Given the description of an element on the screen output the (x, y) to click on. 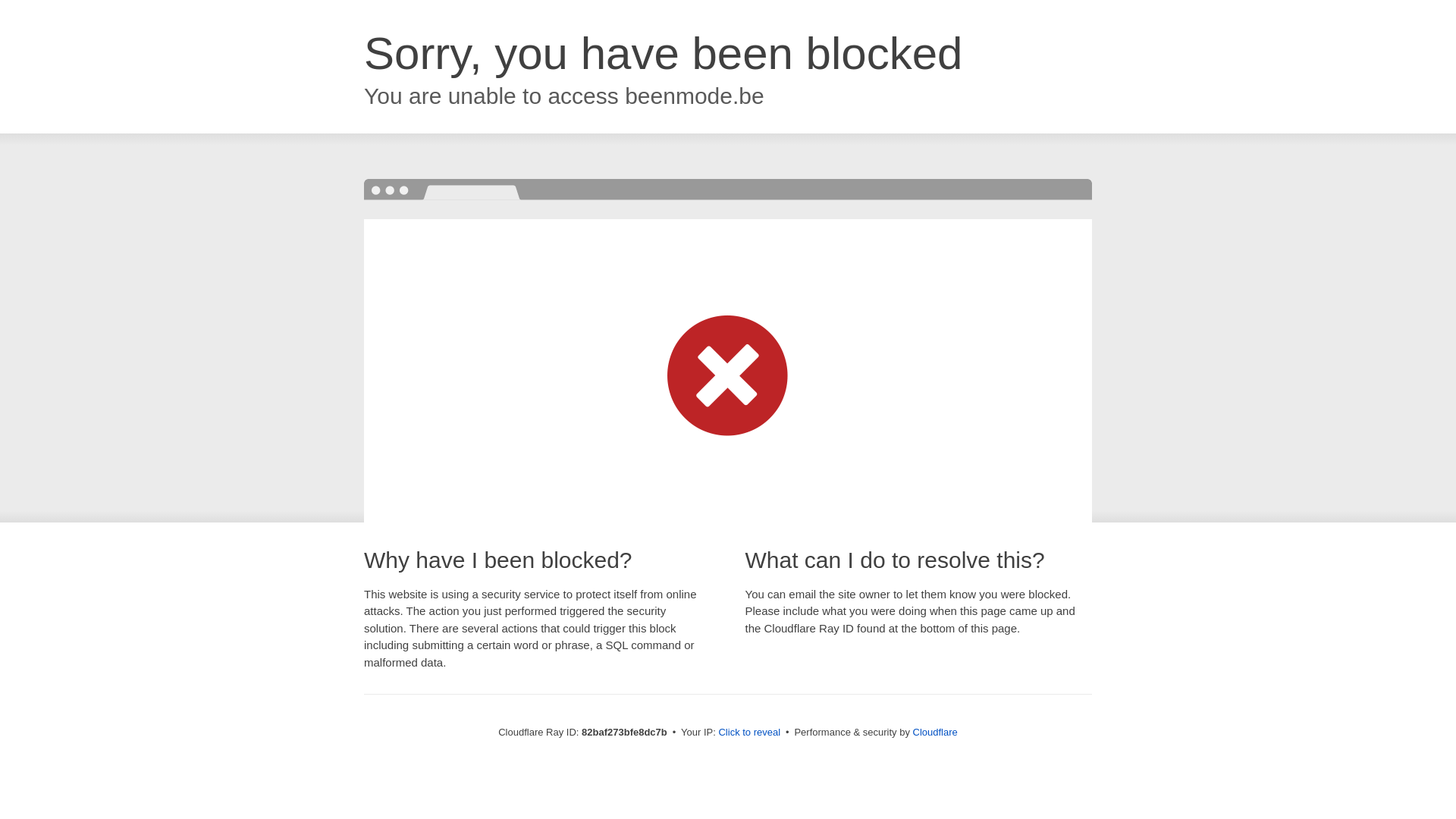
Cloudflare Element type: text (935, 731)
Click to reveal Element type: text (749, 732)
